Given the description of an element on the screen output the (x, y) to click on. 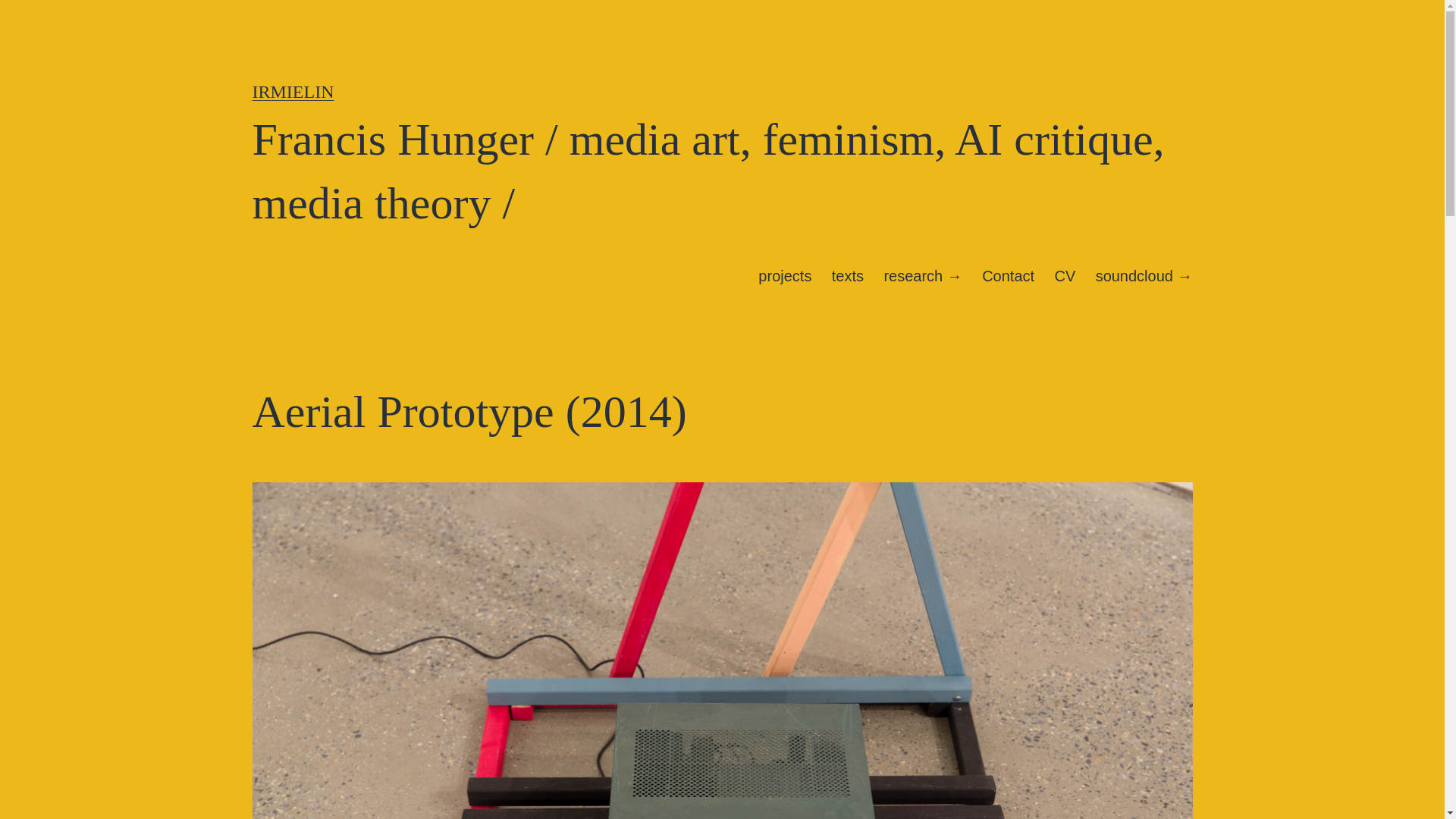
texts (848, 275)
IRMIELIN (292, 91)
projects (784, 275)
Contact (1007, 275)
CV (1063, 275)
